Given the description of an element on the screen output the (x, y) to click on. 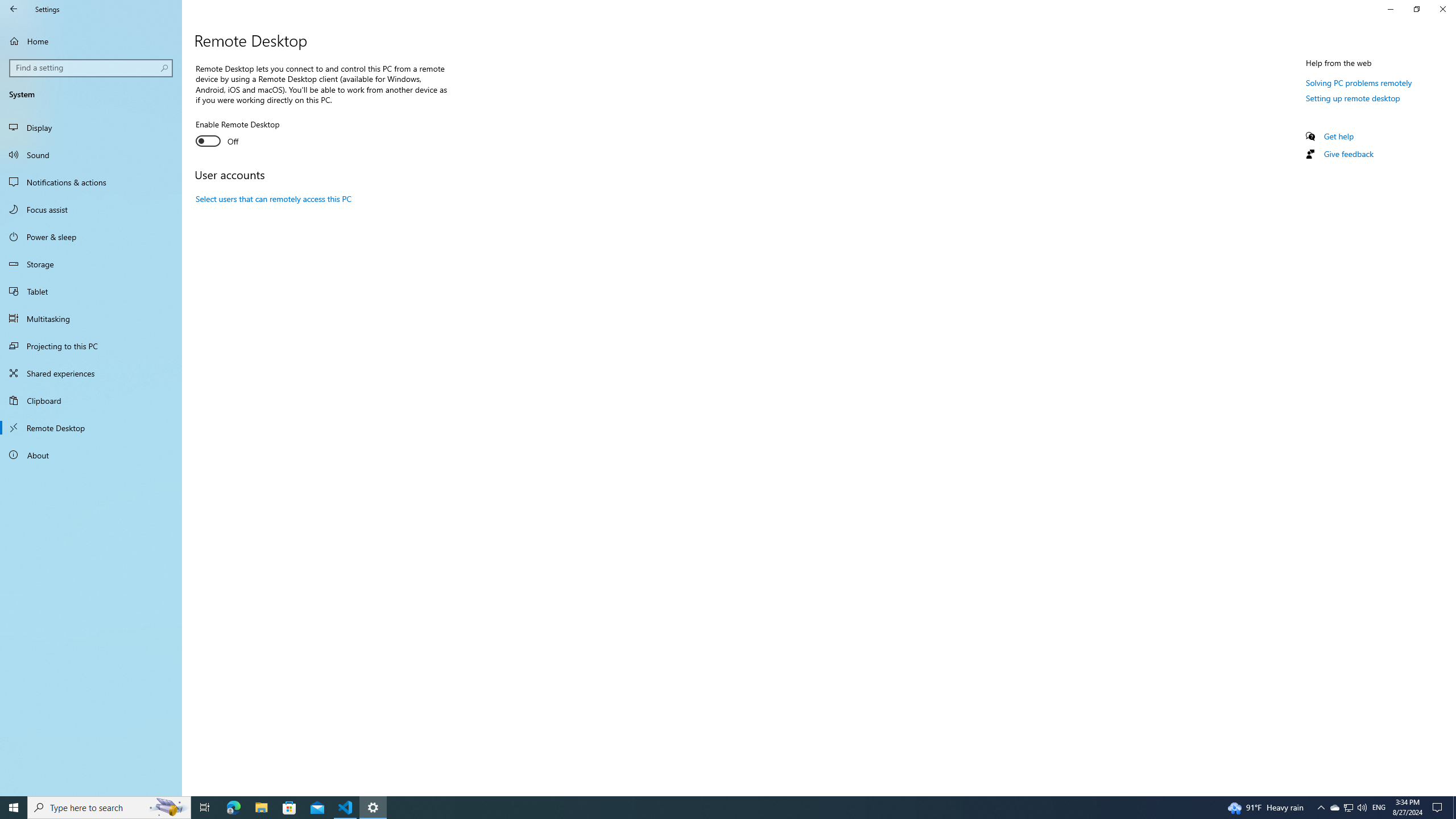
Settings - 1 running window (373, 807)
Notifications & actions (1347, 807)
Q2790: 100% (91, 181)
Setting up remote desktop (1361, 807)
Tray Input Indicator - English (United States) (1353, 97)
Microsoft Edge (1378, 807)
Focus assist (233, 807)
User Promoted Notification Area (91, 208)
Get help (1347, 807)
Start (1338, 136)
Select users that can remotely access this PC (13, 807)
Back (273, 198)
